Given the description of an element on the screen output the (x, y) to click on. 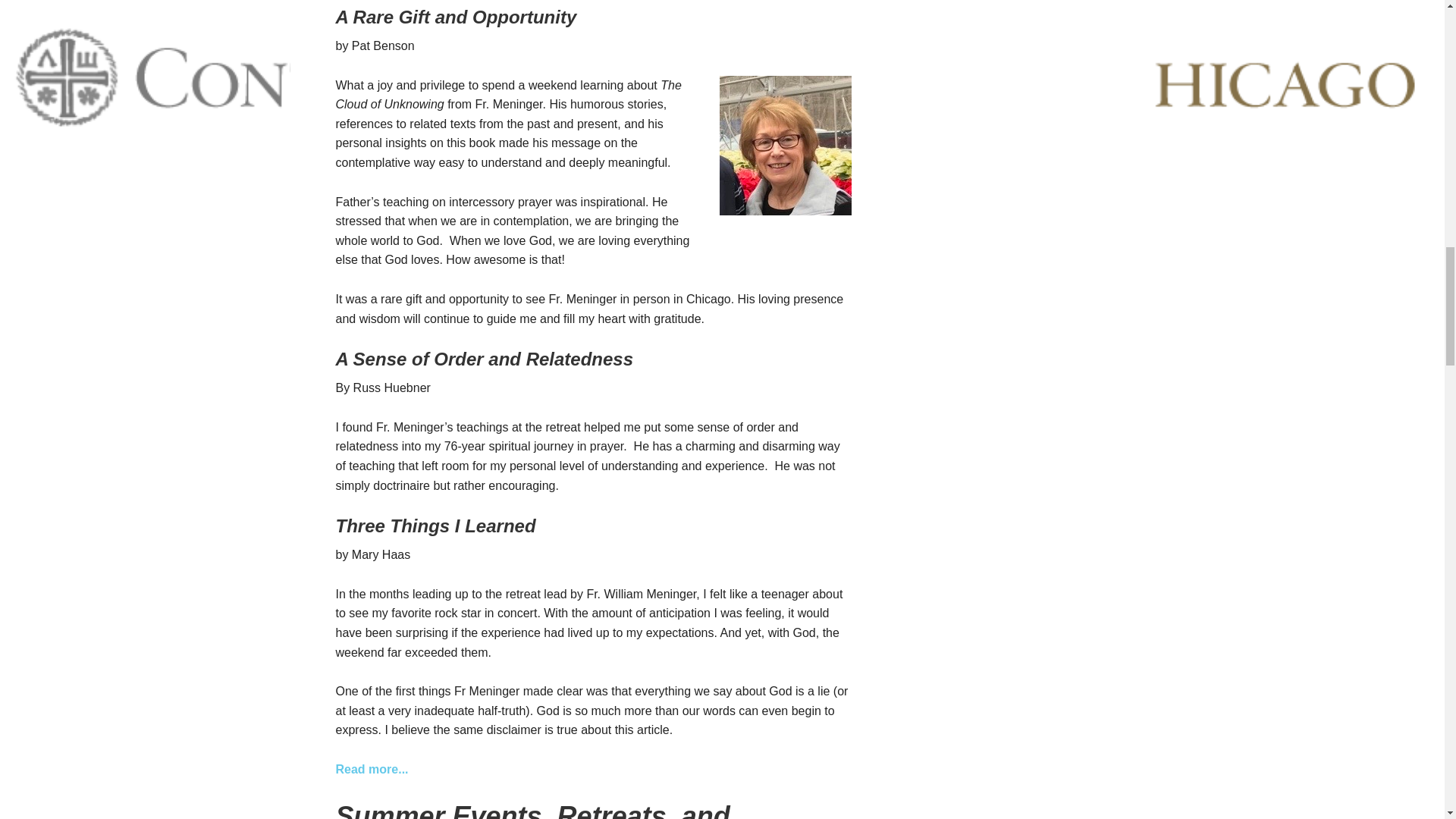
Read more... (370, 768)
